Given the description of an element on the screen output the (x, y) to click on. 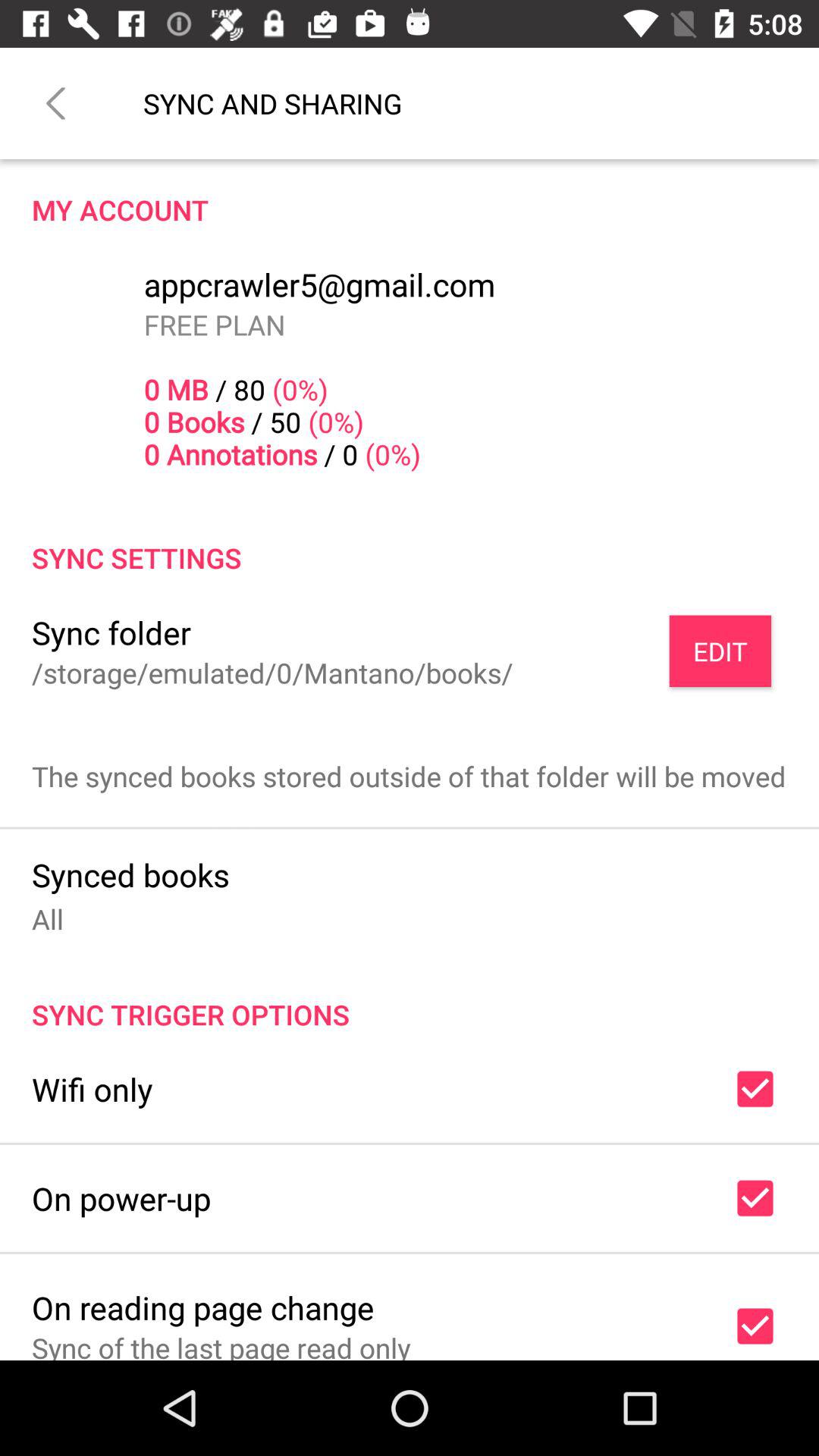
tap the icon to the left of the edit item (272, 672)
